Given the description of an element on the screen output the (x, y) to click on. 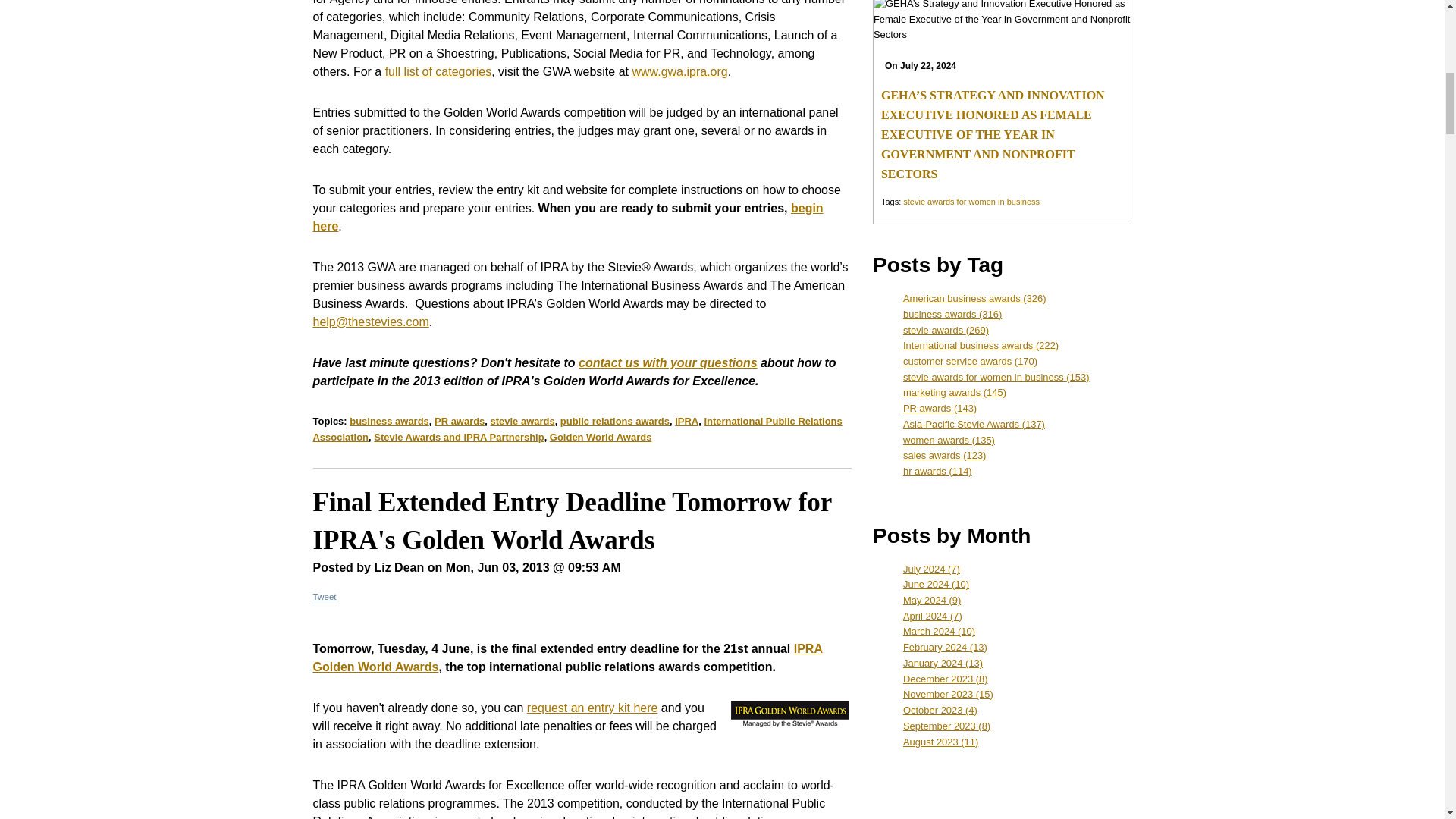
International Public Relations Association (577, 429)
public relations awards (614, 420)
Stevie Awards and IPRA Partnership (458, 437)
IPRA Golden World Awards (567, 657)
Tweet (324, 596)
stevie awards (522, 420)
full list of categories (438, 71)
business awards (389, 420)
Liz Dean (398, 567)
contact us with your questions (667, 362)
PR awards (458, 420)
IPRA (686, 420)
Golden World Awards (601, 437)
begin here (567, 216)
